Given the description of an element on the screen output the (x, y) to click on. 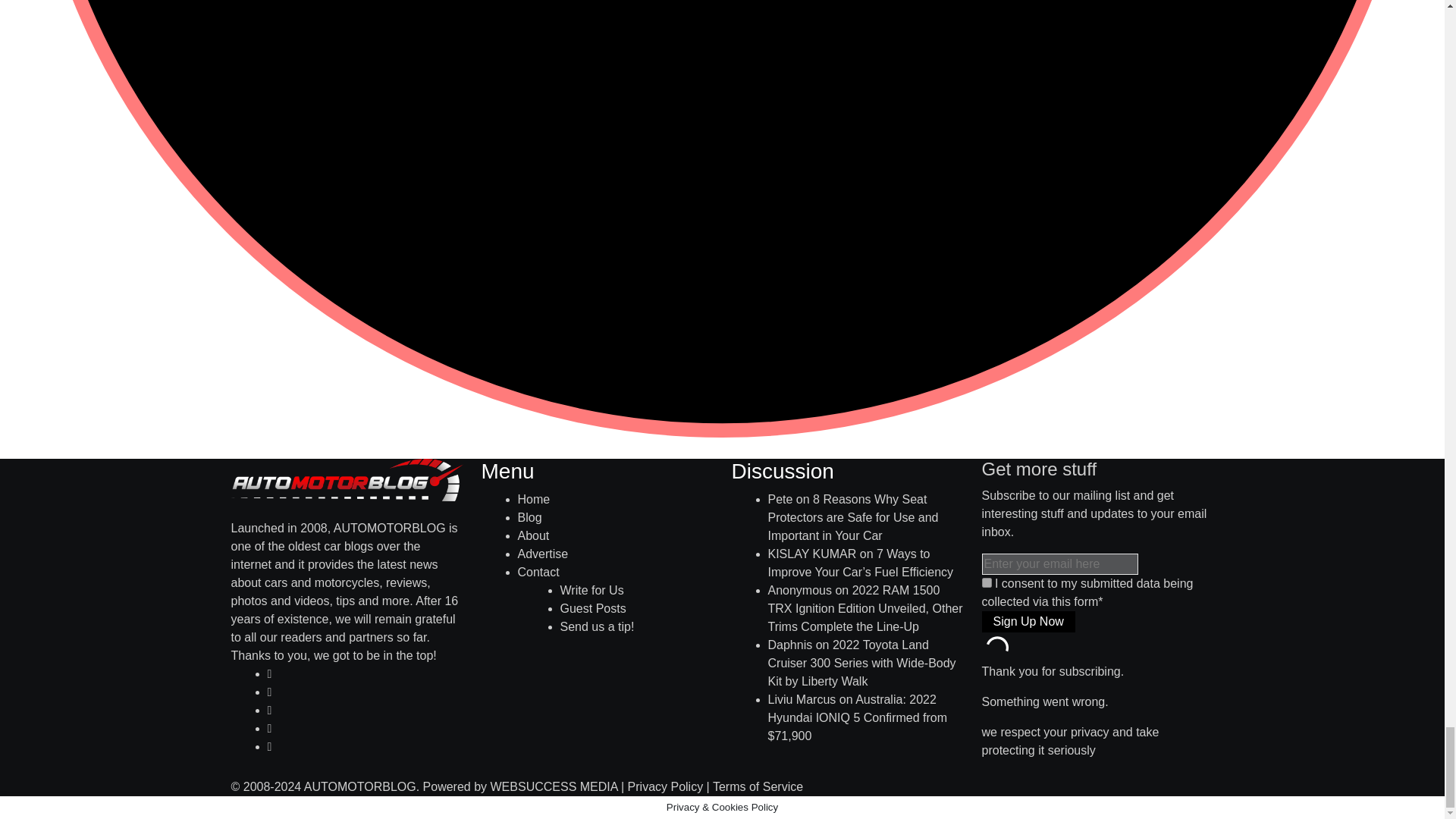
Sign Up Now (1027, 621)
on (986, 583)
